Given the description of an element on the screen output the (x, y) to click on. 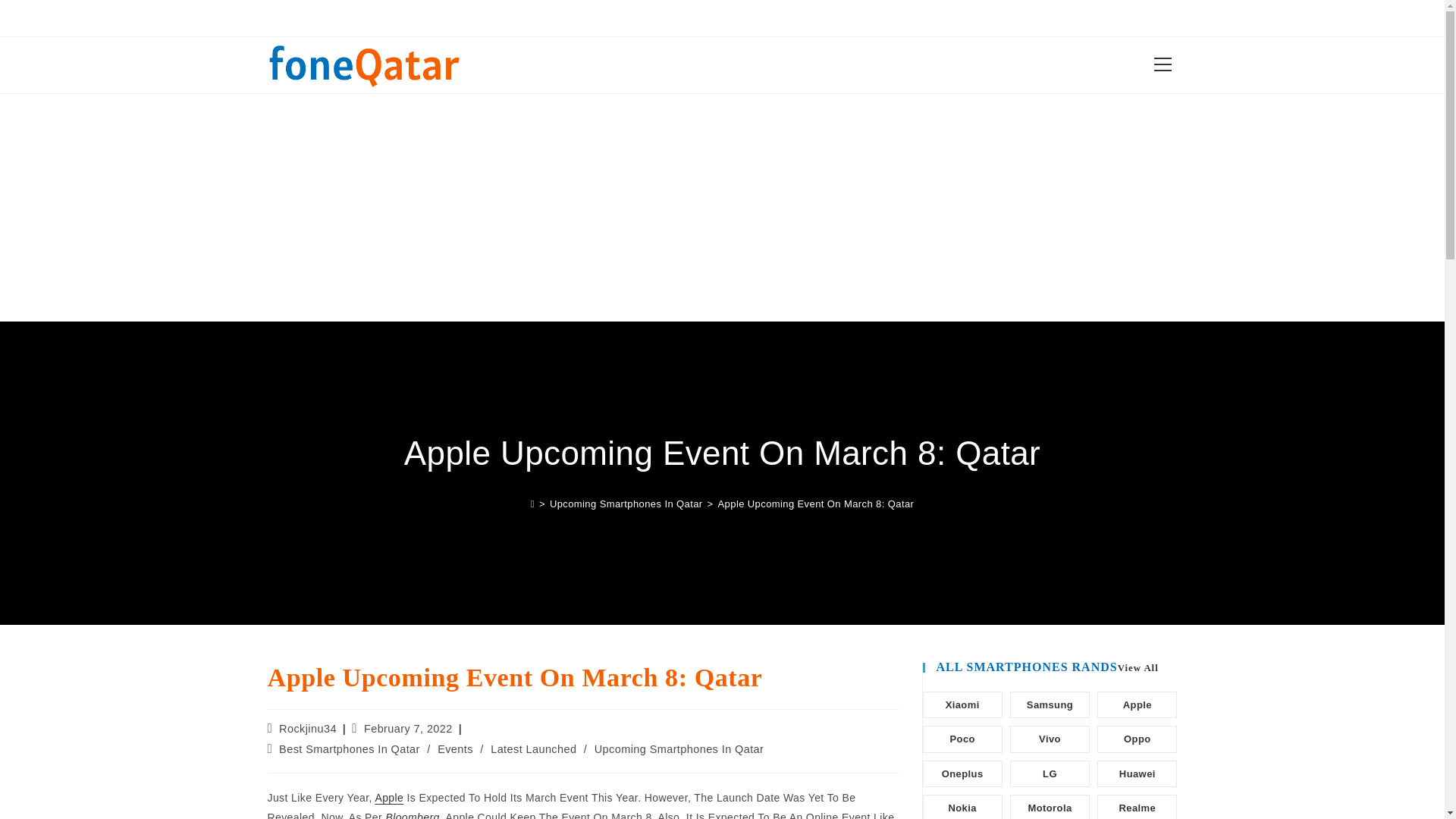
CONTACT (931, 17)
QATAR OFFERS (843, 17)
QATAR BLOGS (574, 17)
MOBILES (758, 17)
SHOP LAPTOPS (672, 17)
Posts by rockjinu34 (307, 728)
HOME (502, 17)
View Website Menu (1162, 65)
